Given the description of an element on the screen output the (x, y) to click on. 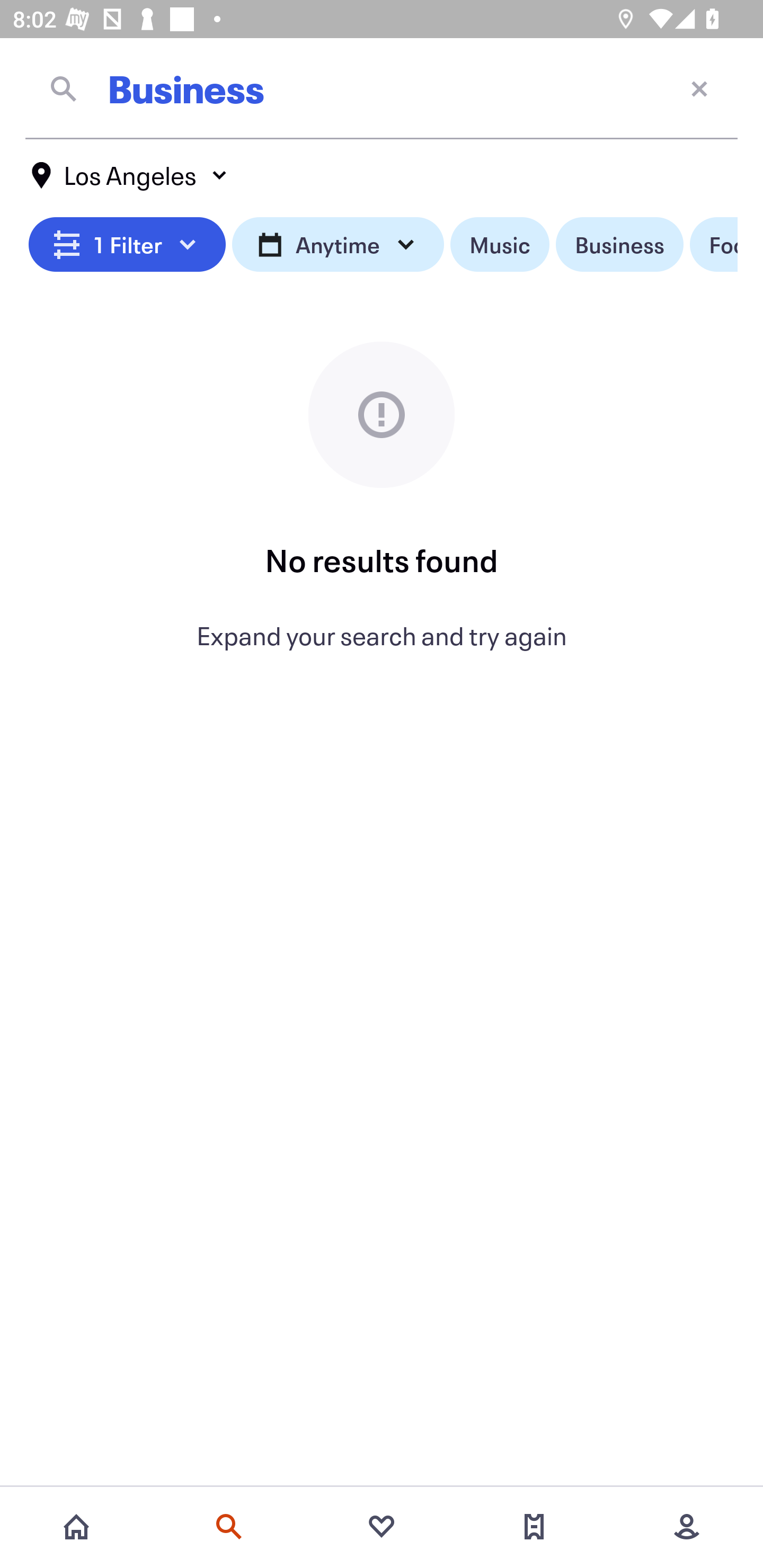
Business Close current screen (381, 88)
Close current screen (699, 88)
Los Angeles (130, 175)
1 Filter (126, 244)
Anytime (337, 244)
Music (499, 244)
Business (619, 244)
Home (76, 1526)
Search events (228, 1526)
Favorites (381, 1526)
Tickets (533, 1526)
More (686, 1526)
